Given the description of an element on the screen output the (x, y) to click on. 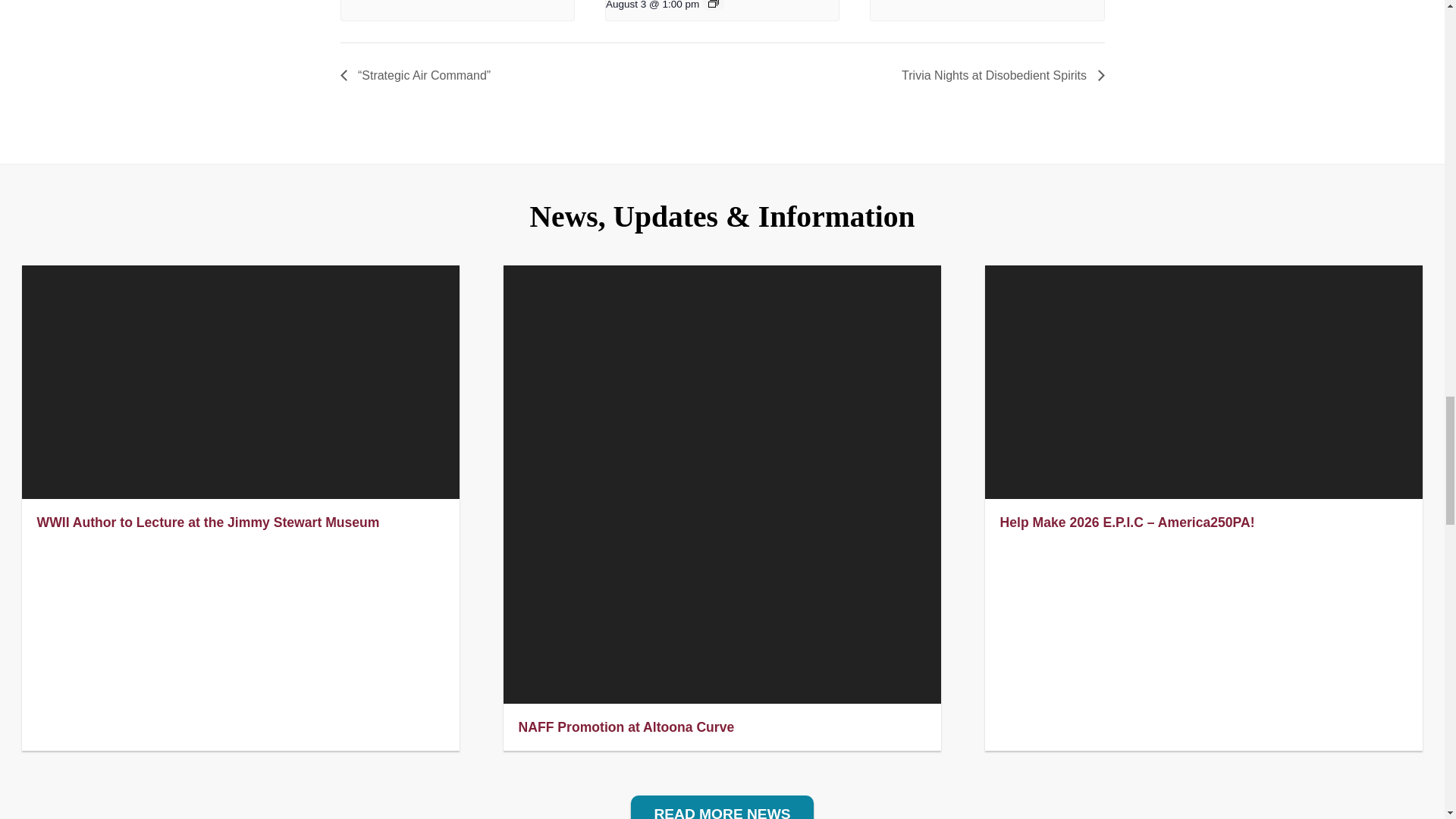
Trivia Nights at Disobedient Spirits (998, 74)
Event Series (713, 3)
WWII Author to Lecture at the Jimmy Stewart Museum (208, 522)
